Given the description of an element on the screen output the (x, y) to click on. 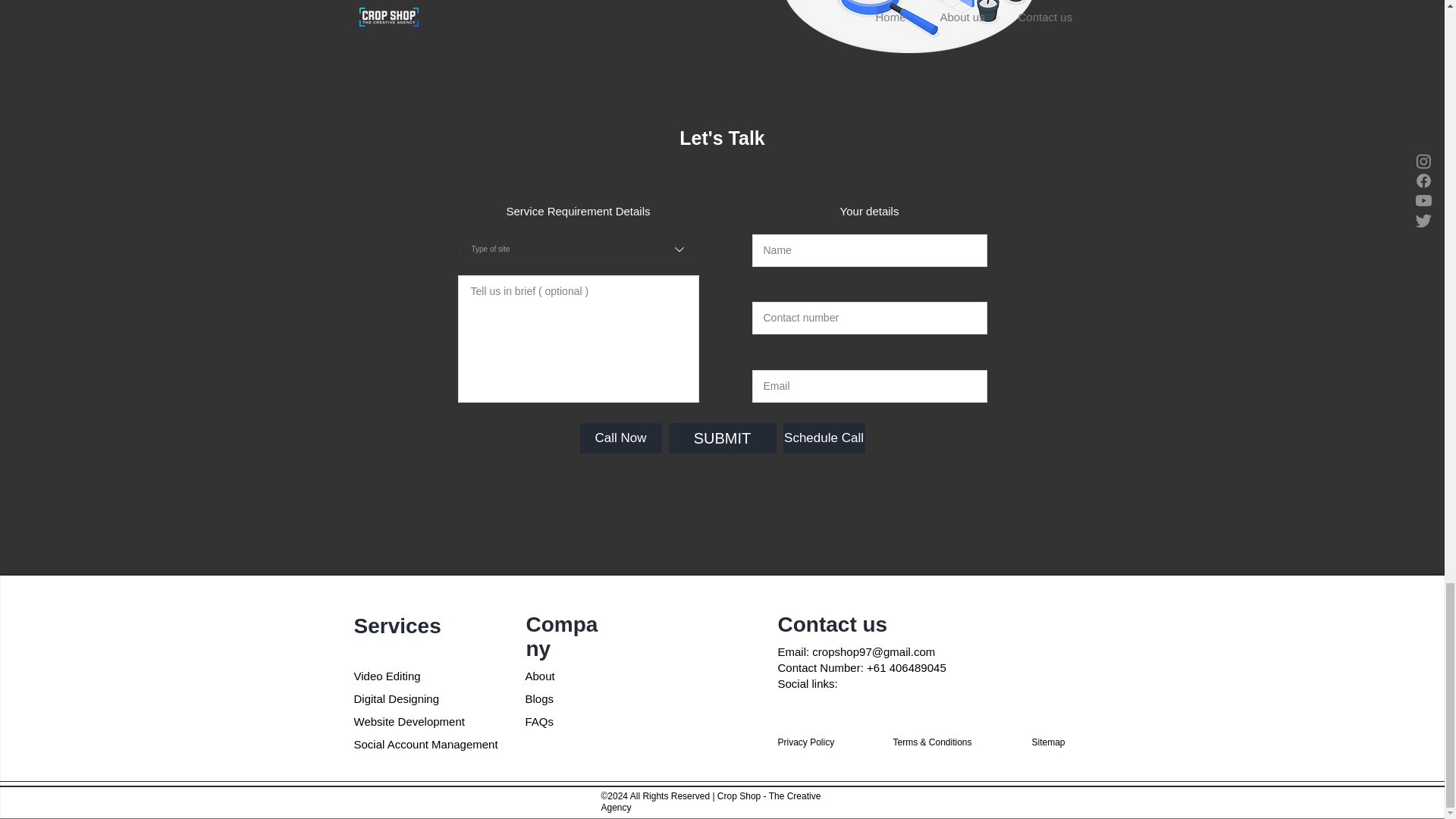
Digital Designing (396, 698)
Privacy Policy (805, 742)
Schedule Call (823, 438)
Blogs (538, 698)
Website Development (408, 721)
Call Now (620, 438)
FAQs (538, 721)
SUBMIT (722, 438)
Services (397, 626)
About (539, 675)
Social Account Management (425, 744)
Video Editing (386, 675)
Sitemap (1047, 742)
